Given the description of an element on the screen output the (x, y) to click on. 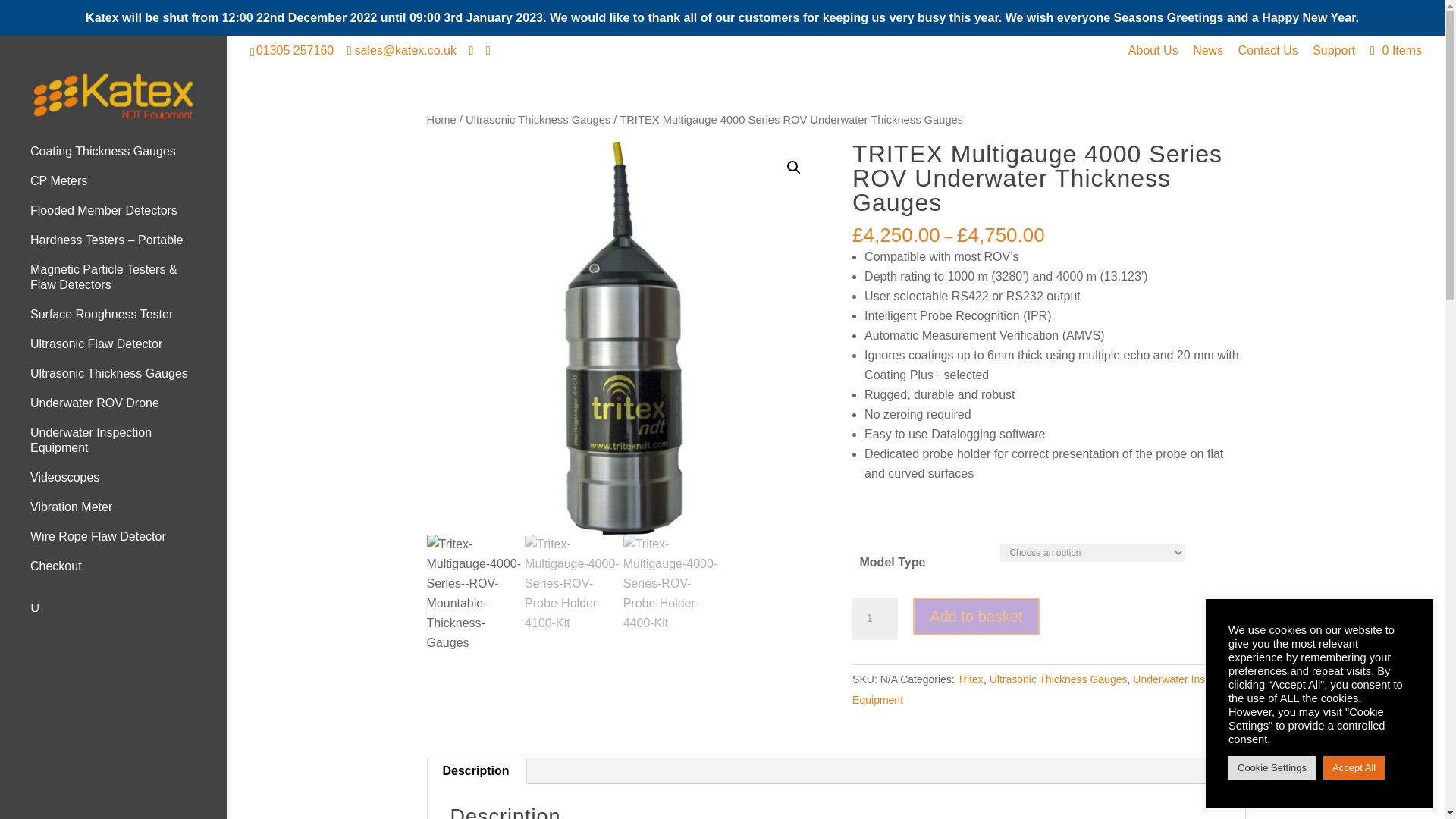
Underwater Inspection Equipment (128, 447)
Surface Roughness Tester (128, 321)
Wire Rope Flaw Detector (128, 543)
Checkout (128, 573)
Ultrasonic Flaw Detector (128, 351)
News (1207, 55)
Contact Us (1268, 55)
CP Meters (128, 188)
About Us (1152, 55)
Support (1334, 55)
Coating Thickness Gauges (128, 158)
Flooded Member Detectors (128, 217)
0 Items (1394, 50)
Ultrasonic Thickness Gauges (128, 380)
